Given the description of an element on the screen output the (x, y) to click on. 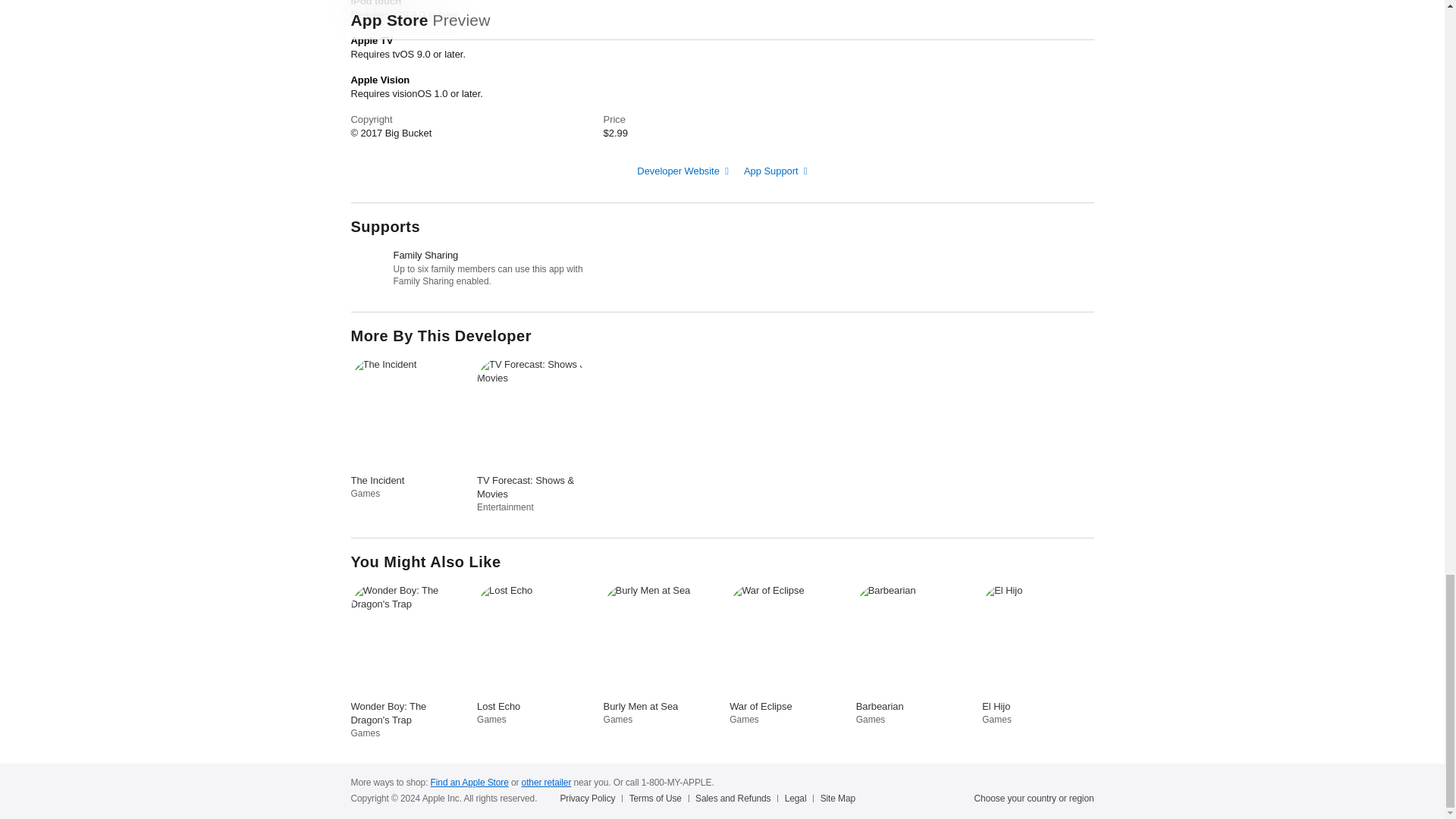
Choose your country or region (1034, 798)
Find an Apple Store (469, 782)
other retailer (546, 782)
App Support (776, 170)
Privacy Policy (590, 798)
Developer Website (683, 170)
Choose your country or region (1034, 798)
